Given the description of an element on the screen output the (x, y) to click on. 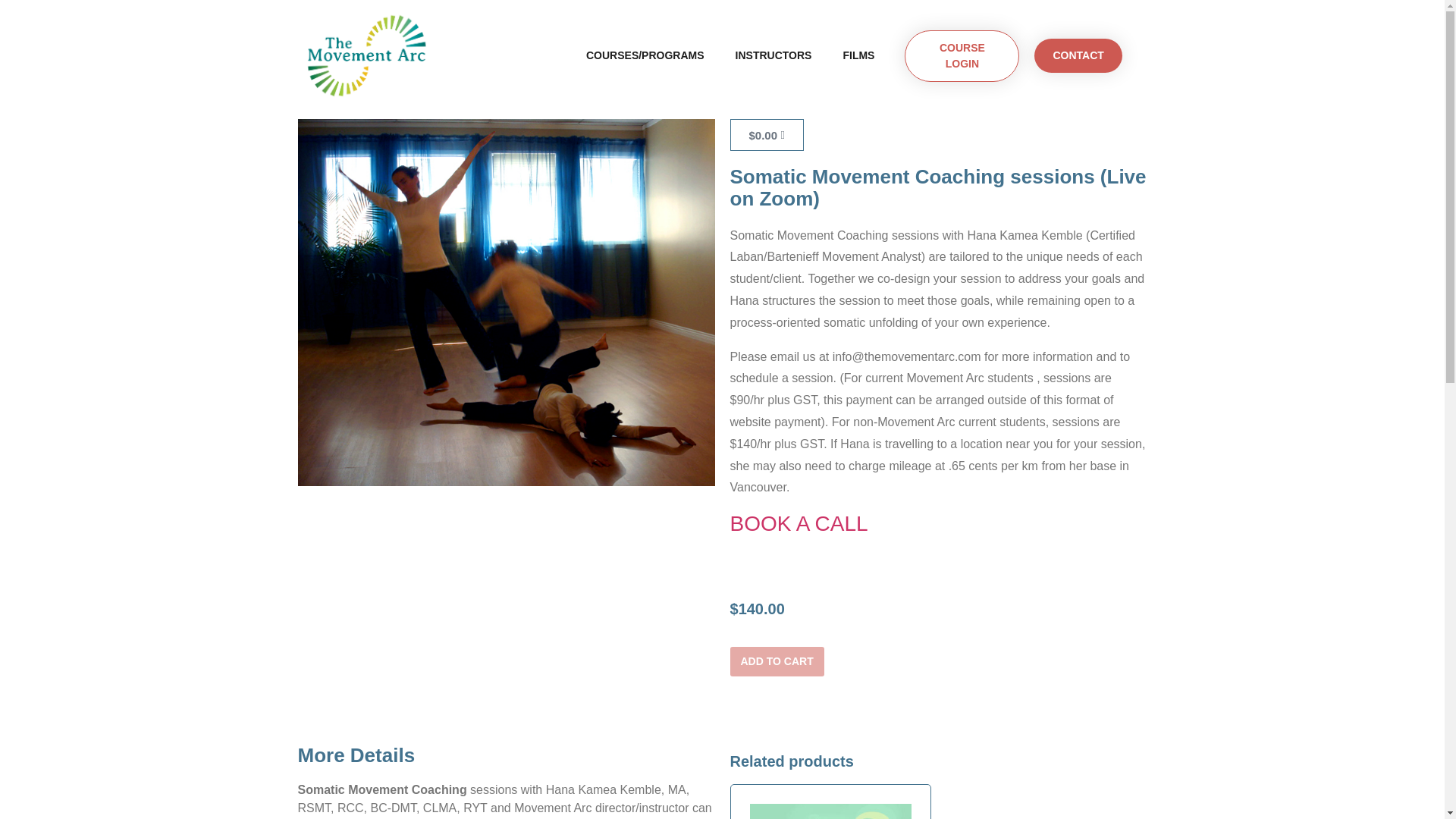
BOOK A CALL (798, 523)
FILMS (858, 55)
INSTRUCTORS (773, 55)
ADD TO CART (776, 661)
CONTACT (1077, 55)
COURSE LOGIN (961, 55)
